Given the description of an element on the screen output the (x, y) to click on. 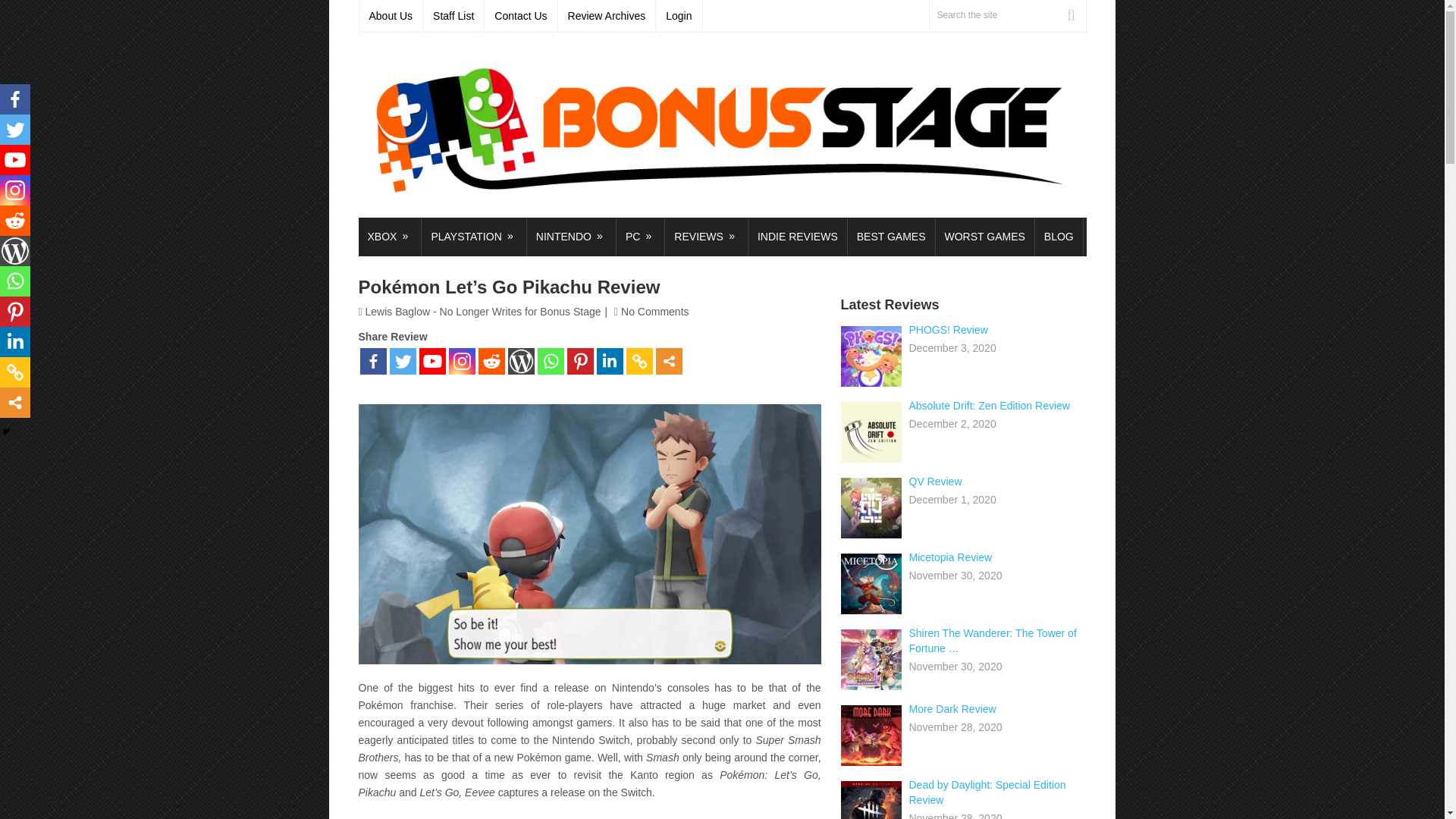
Review Archives (606, 15)
PC (639, 236)
Login (678, 15)
About Us (391, 15)
REVIEWS (706, 236)
Staff List (453, 15)
Contact Us (520, 15)
NINTENDO (571, 236)
PLAYSTATION (473, 236)
XBOX (389, 236)
